Given the description of an element on the screen output the (x, y) to click on. 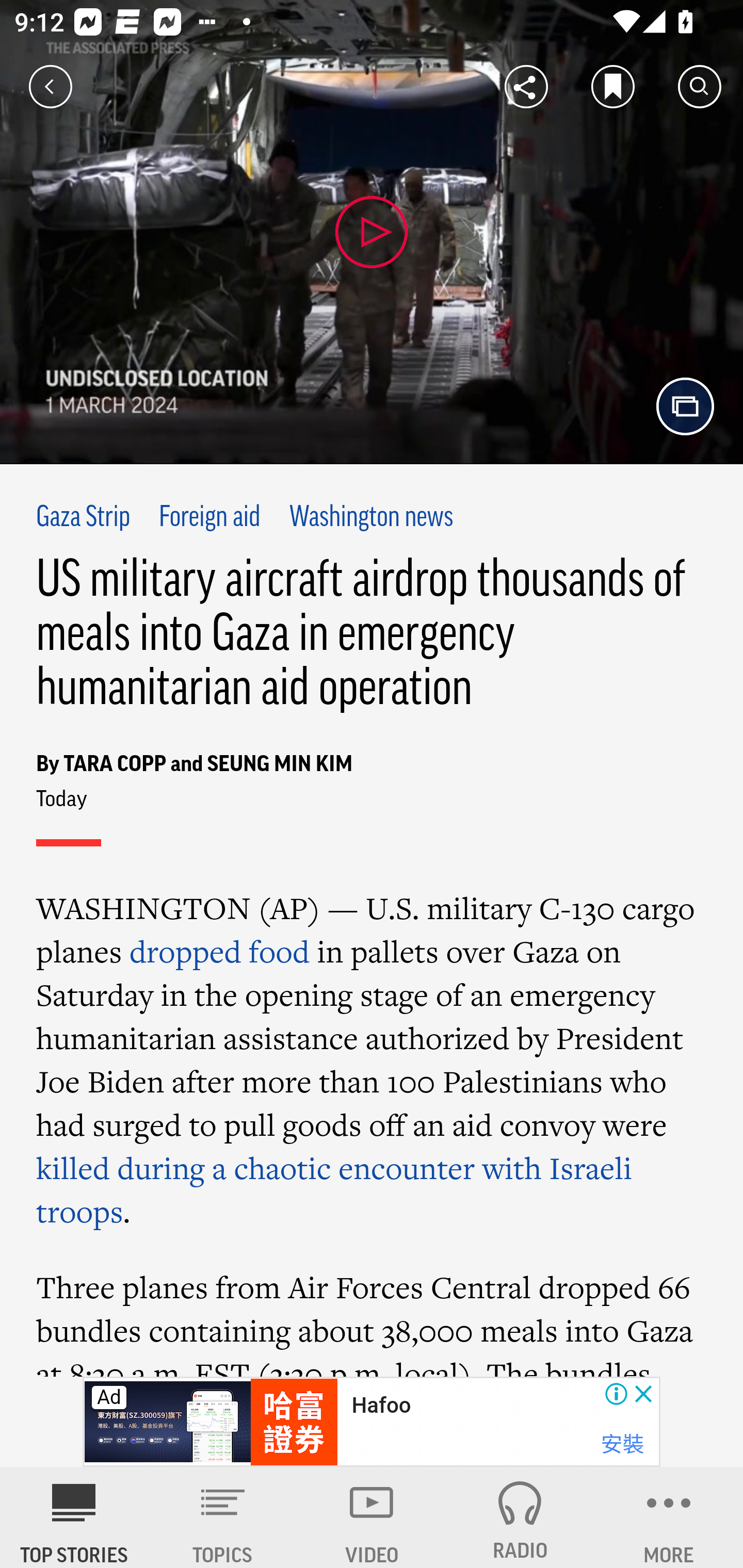
Gaza Strip (83, 518)
Foreign aid (208, 518)
Washington news (371, 518)
dropped food (218, 951)
Hafoo (381, 1405)
安裝 (621, 1444)
AP News TOP STORIES (74, 1517)
TOPICS (222, 1517)
VIDEO (371, 1517)
RADIO (519, 1517)
MORE (668, 1517)
